Given the description of an element on the screen output the (x, y) to click on. 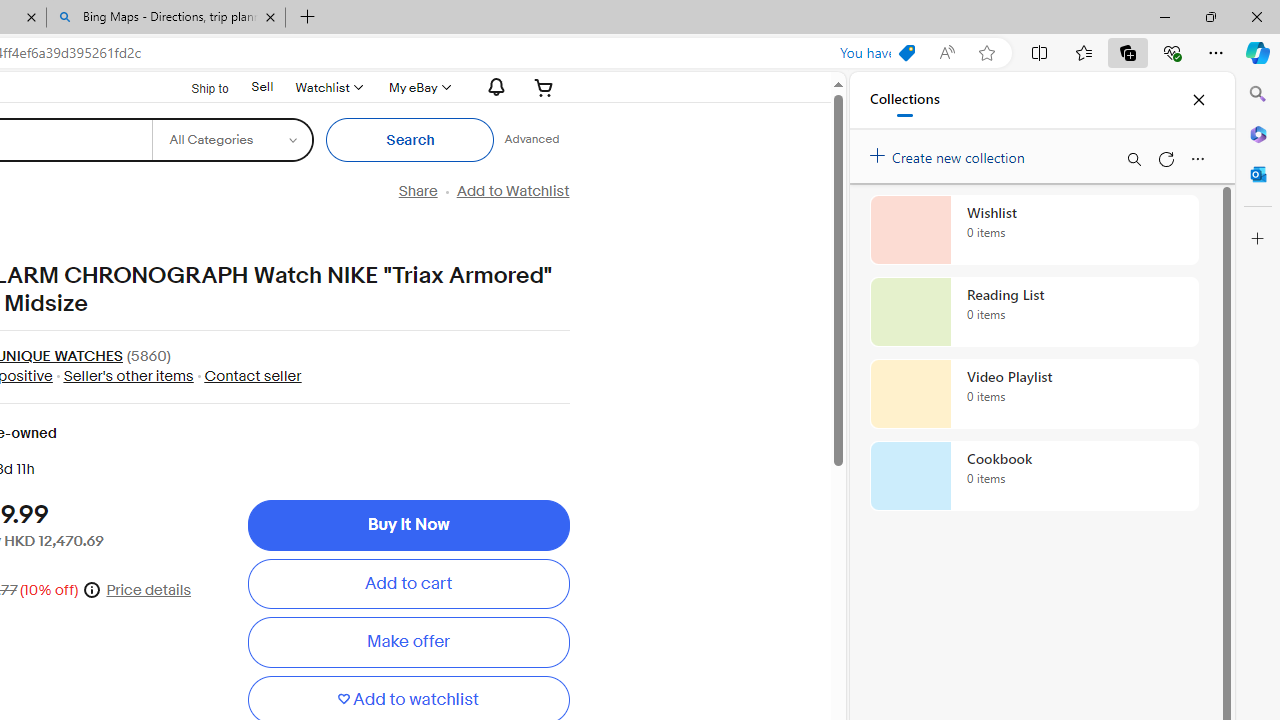
Buy It Now (408, 524)
Sell (262, 86)
Price details (149, 590)
Expand Cart (543, 87)
Sell (261, 87)
Your shopping cart (543, 87)
My eBay (418, 87)
Seller's other items (128, 375)
What does this price mean? (91, 588)
Buy It Now (408, 524)
